Given the description of an element on the screen output the (x, y) to click on. 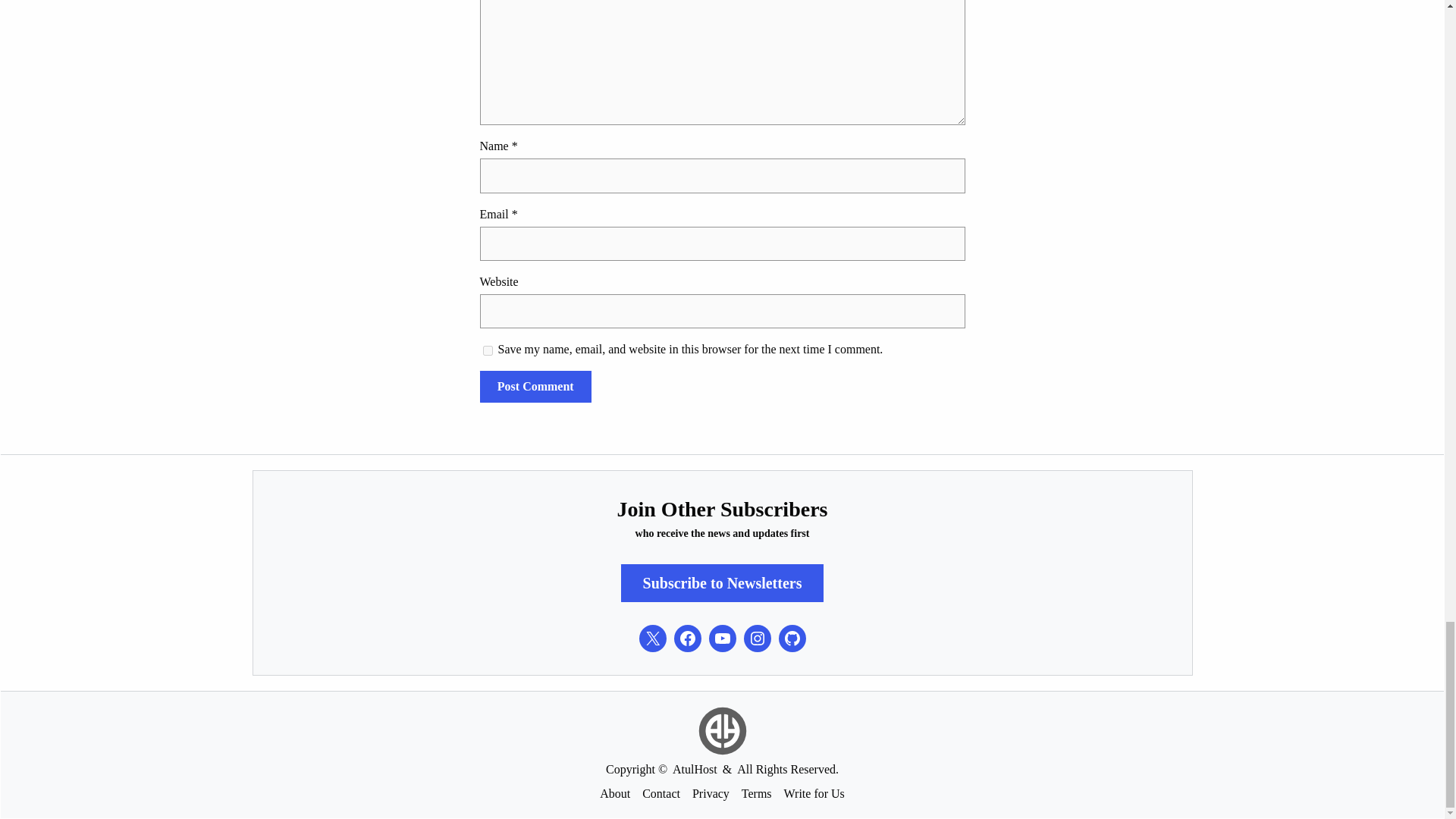
AtulHost on YouTube (721, 637)
Subscribe to Newsletters (722, 583)
AtulHost on Facebook (686, 637)
AtulHost on X (652, 637)
Post Comment (535, 386)
Post Comment (535, 386)
Instagram (756, 637)
